Given the description of an element on the screen output the (x, y) to click on. 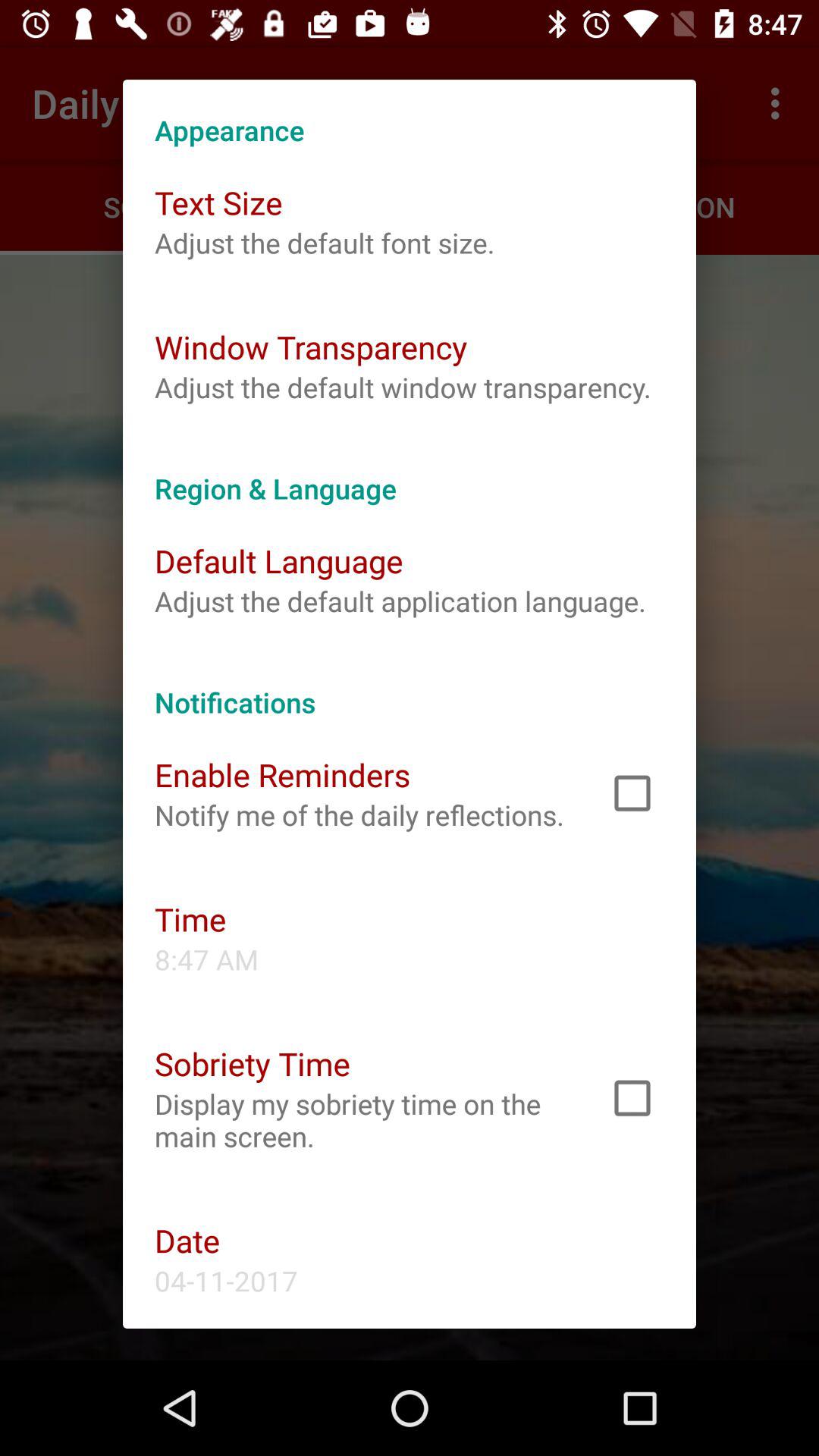
turn on the app above the default language item (409, 472)
